Given the description of an element on the screen output the (x, y) to click on. 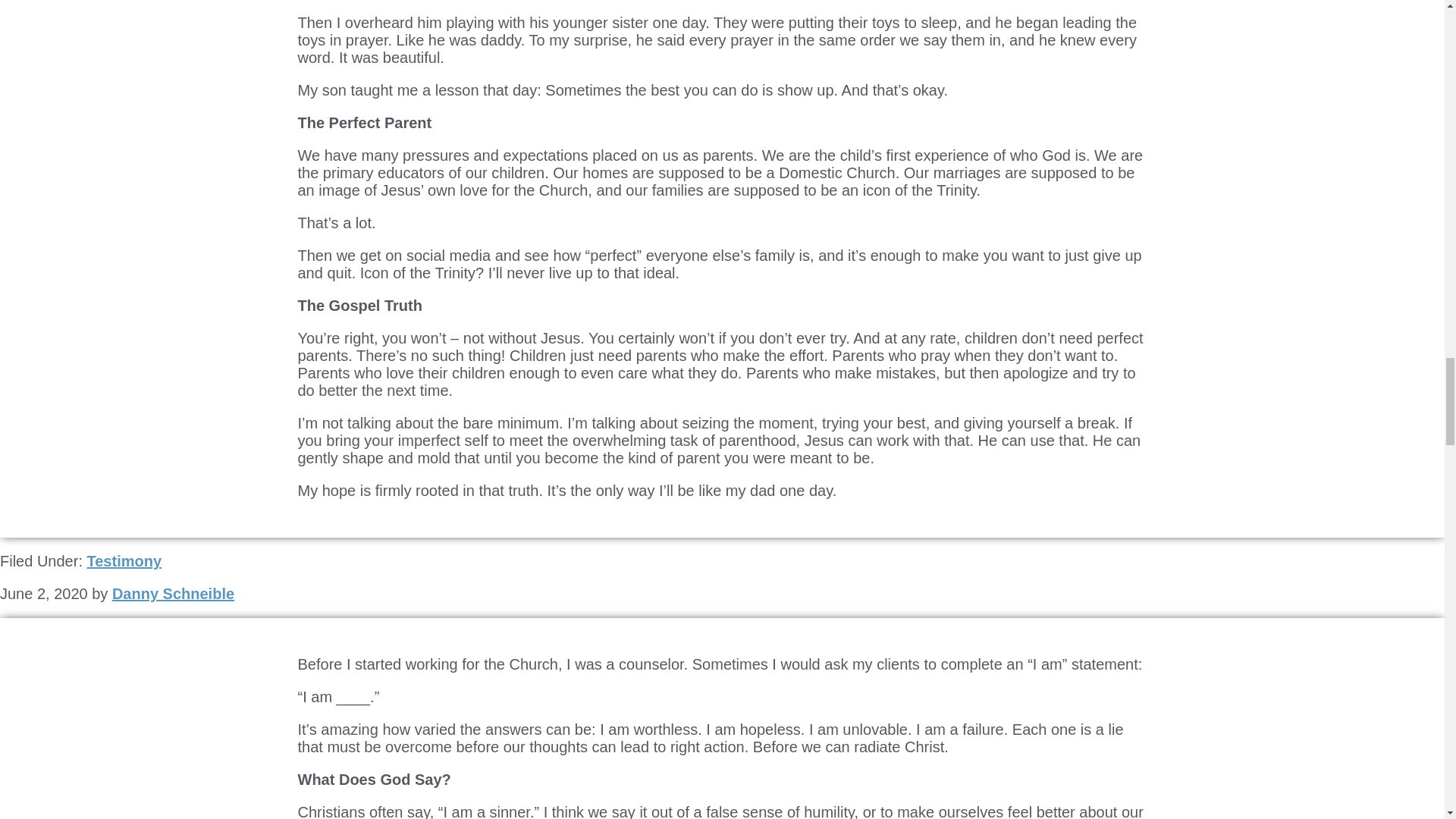
Danny Schneible (173, 593)
Testimony (123, 560)
